Given the description of an element on the screen output the (x, y) to click on. 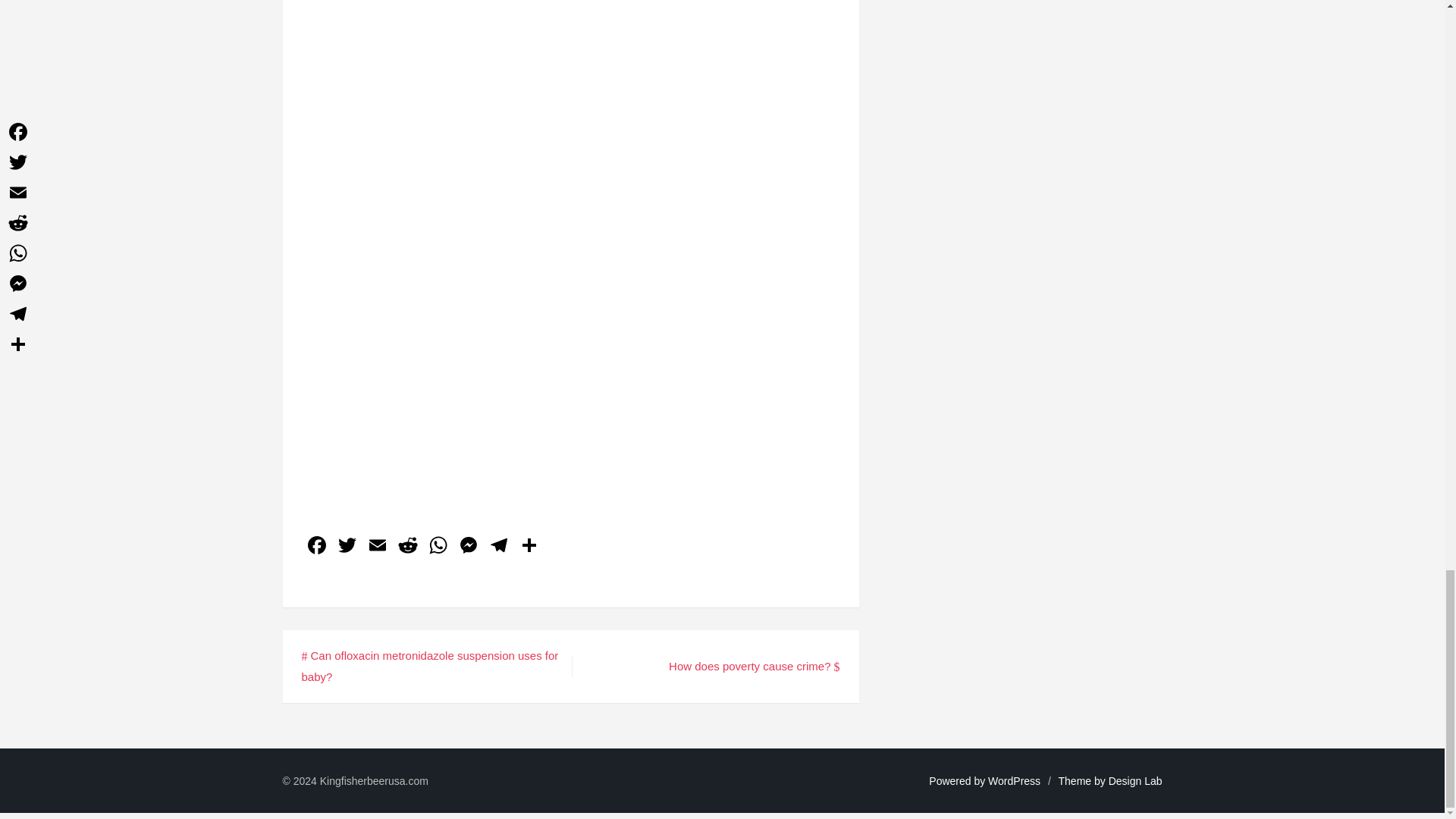
How does poverty cause crime? (754, 666)
Messenger (467, 547)
Twitter (346, 547)
Facebook (316, 547)
Telegram (498, 547)
Email (377, 547)
Email (377, 547)
Reddit (408, 547)
Can ofloxacin metronidazole suspension uses for baby? (430, 666)
Telegram (498, 547)
WhatsApp (437, 547)
WhatsApp (437, 547)
Facebook (316, 547)
Messenger (467, 547)
